Given the description of an element on the screen output the (x, y) to click on. 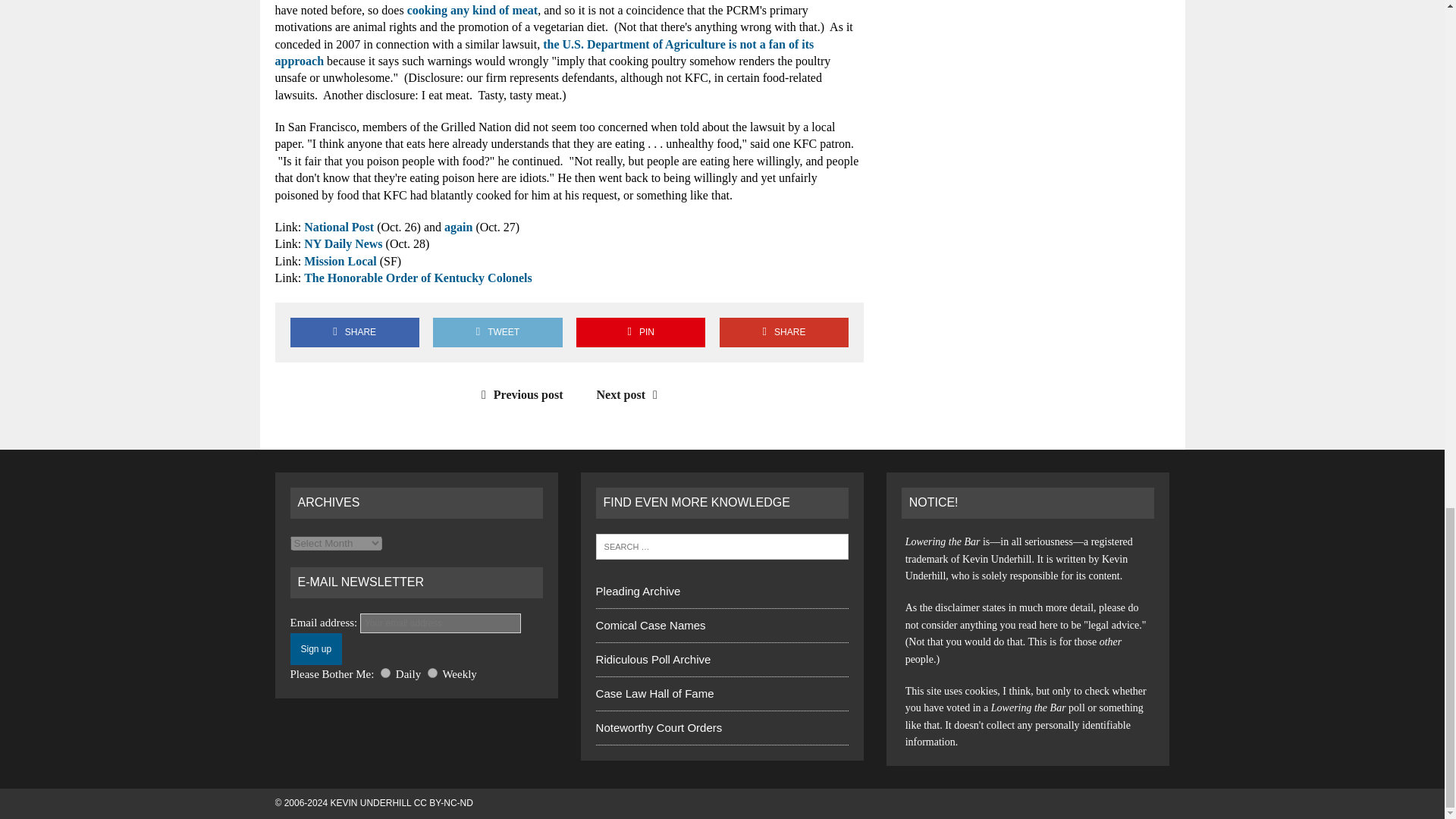
Tweet This Post (497, 332)
Daily (385, 673)
Pin This Post (640, 332)
Weekly (433, 673)
Sign up (315, 649)
Share on Facebook (354, 332)
